Given the description of an element on the screen output the (x, y) to click on. 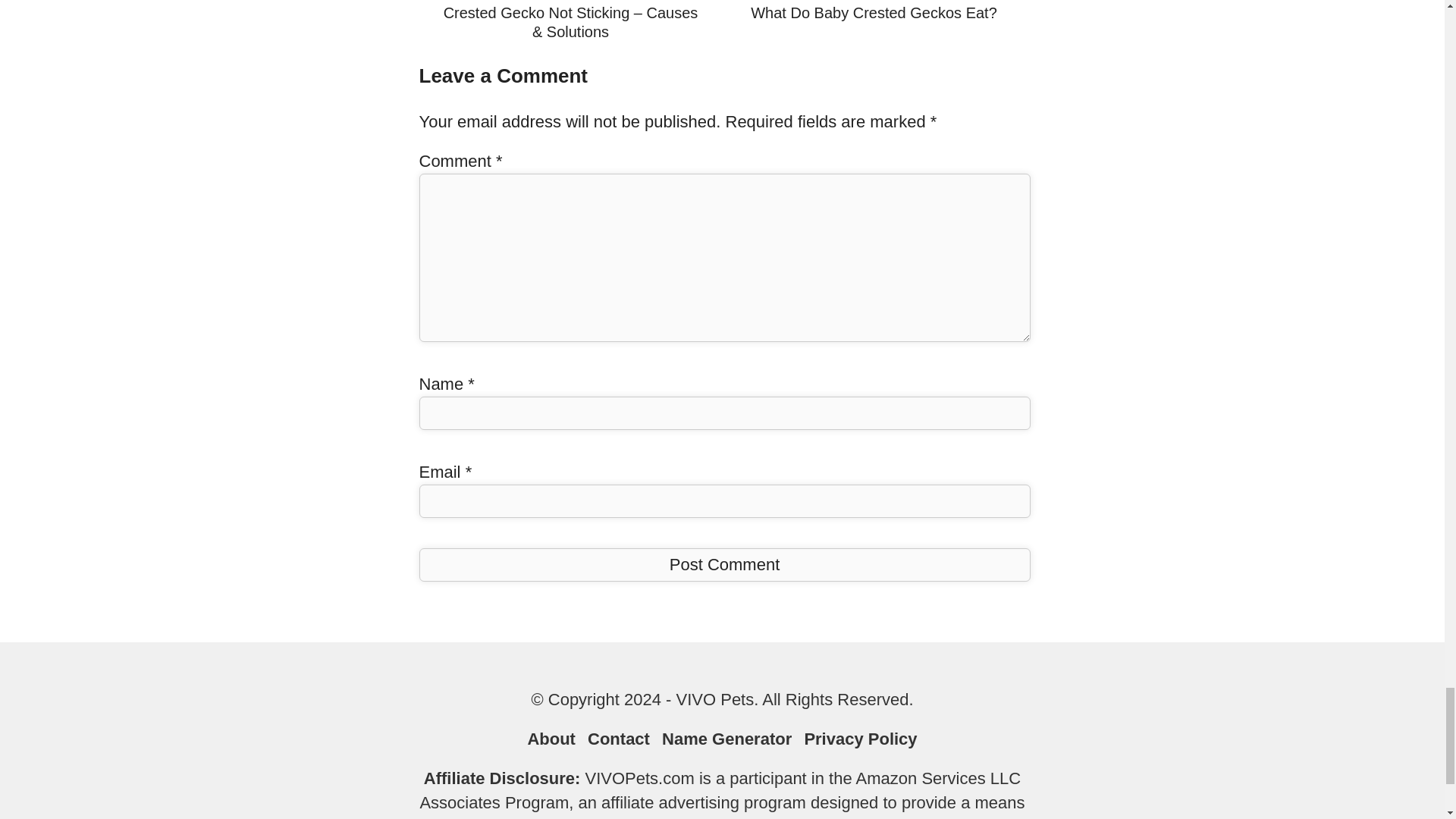
Post Comment (724, 564)
What Do Baby Crested Geckos Eat? (874, 12)
